Given the description of an element on the screen output the (x, y) to click on. 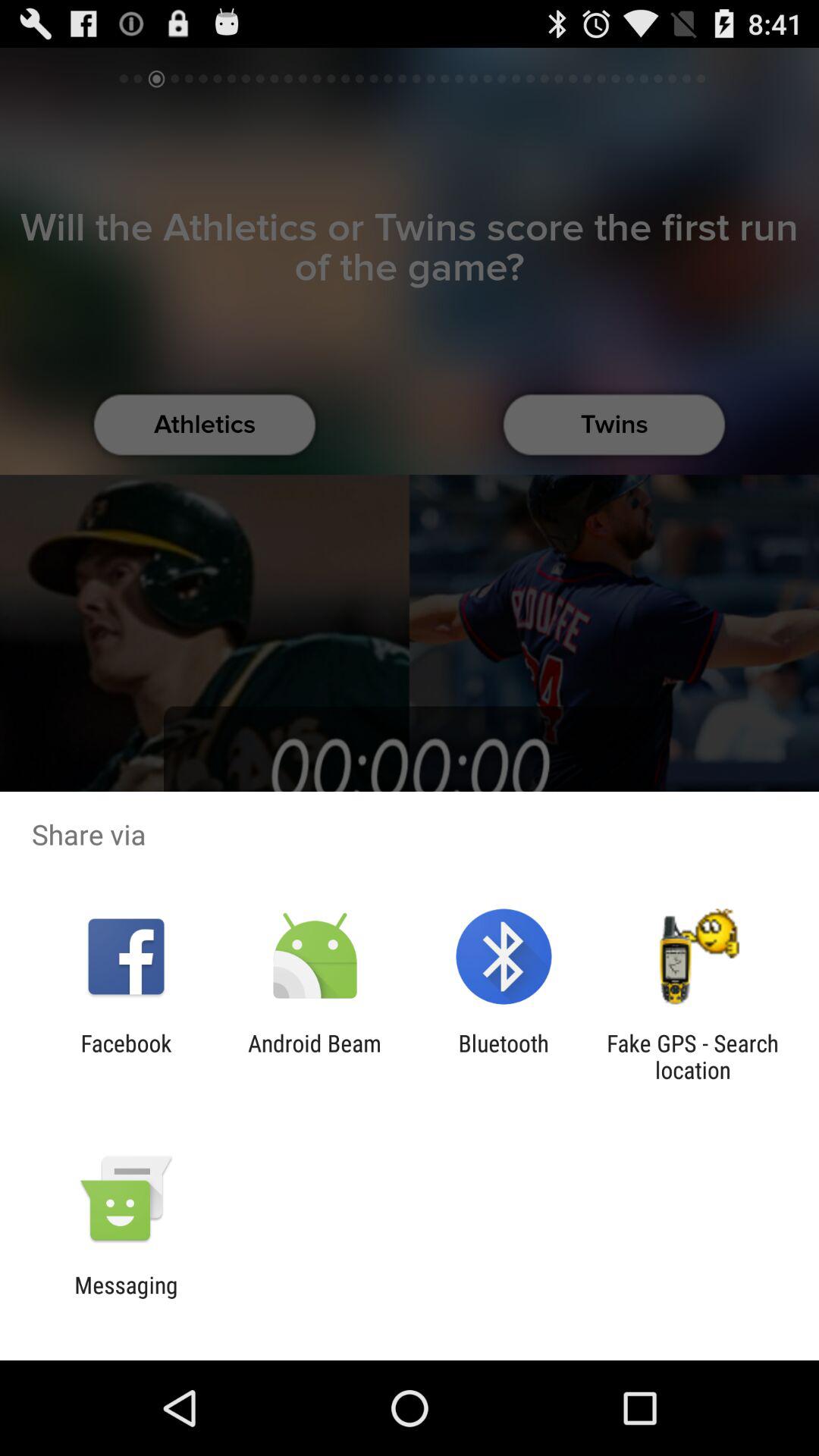
choose the item to the right of the android beam app (503, 1056)
